Given the description of an element on the screen output the (x, y) to click on. 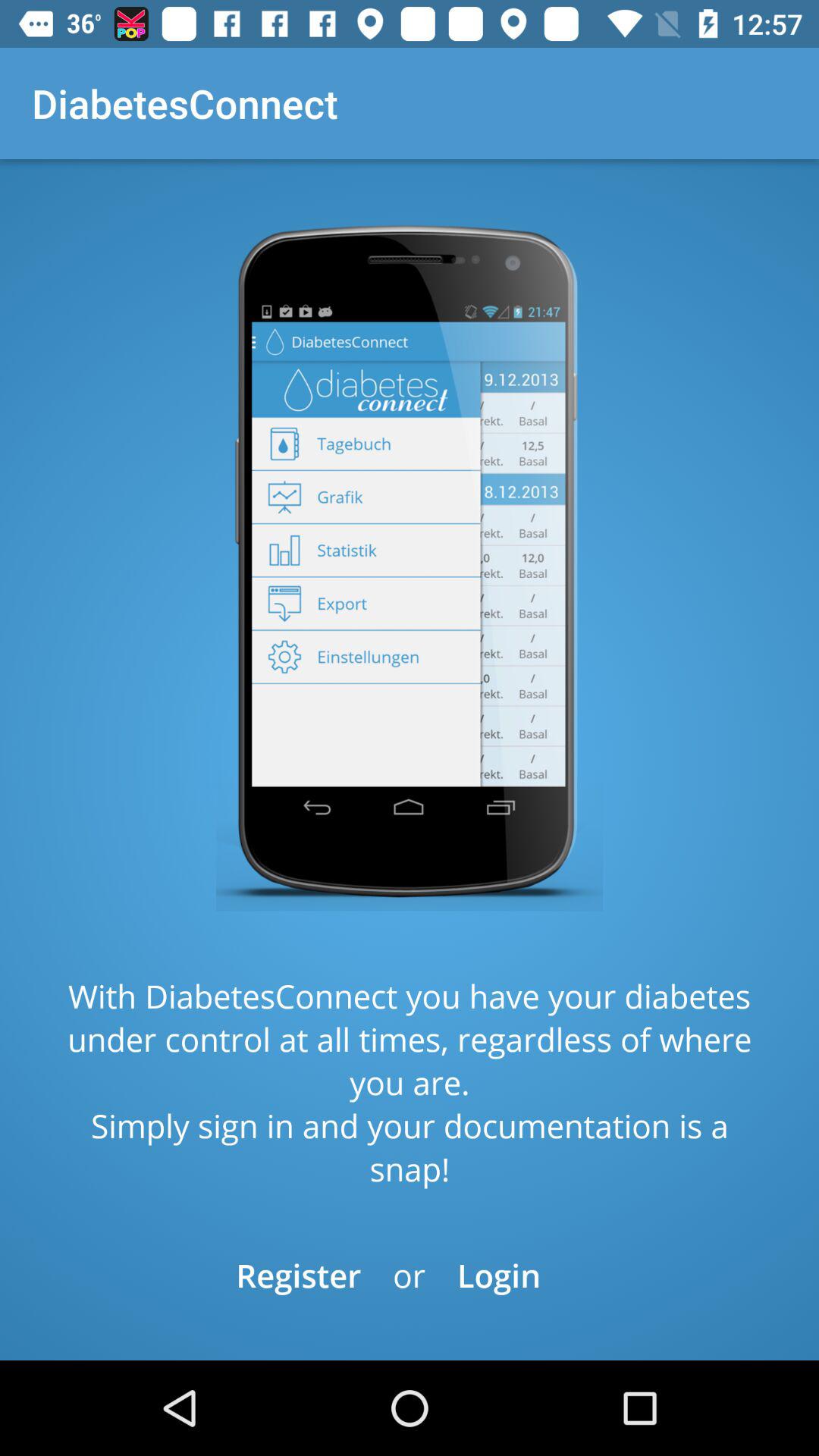
open item to the right of or item (498, 1275)
